Given the description of an element on the screen output the (x, y) to click on. 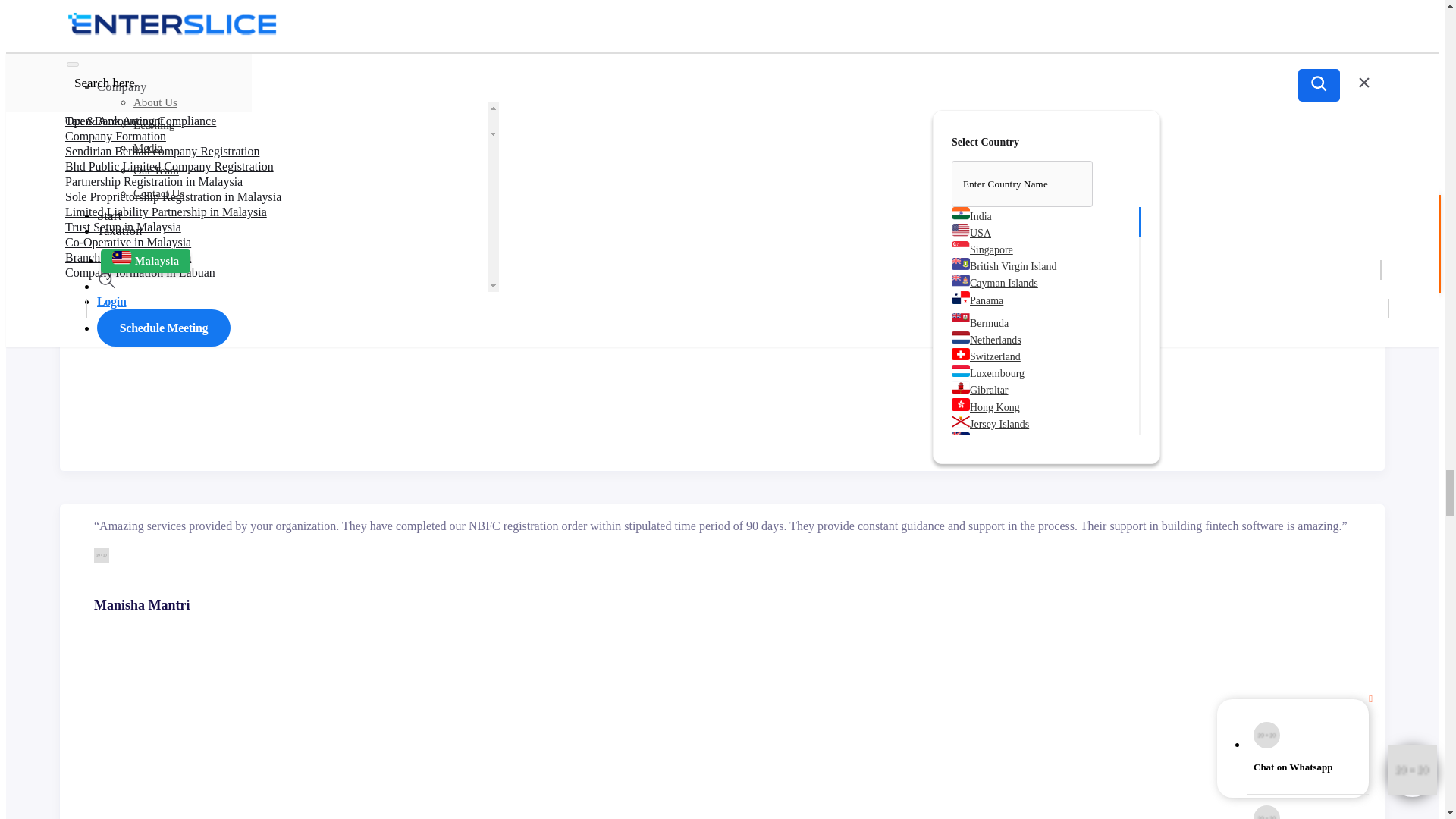
Amit Goel (101, 111)
Manisha Mantri (101, 554)
